Given the description of an element on the screen output the (x, y) to click on. 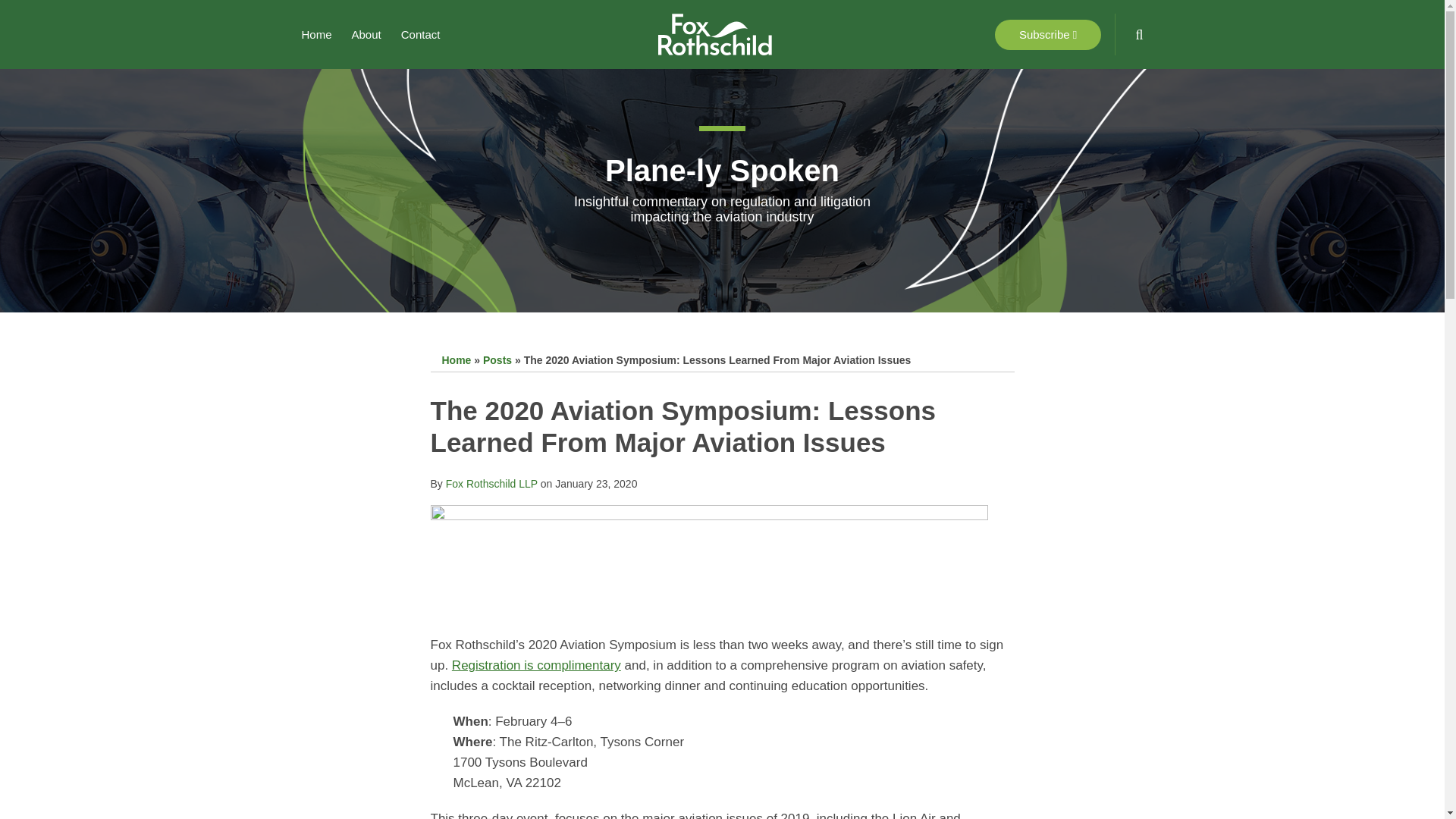
Fox Rothschild LLP (491, 483)
Subscribe (1047, 34)
Home (316, 34)
Contact (421, 34)
Plane-ly Spoken (722, 170)
Posts (497, 359)
Registration is complimentary (536, 665)
About (366, 34)
Home (455, 359)
